Given the description of an element on the screen output the (x, y) to click on. 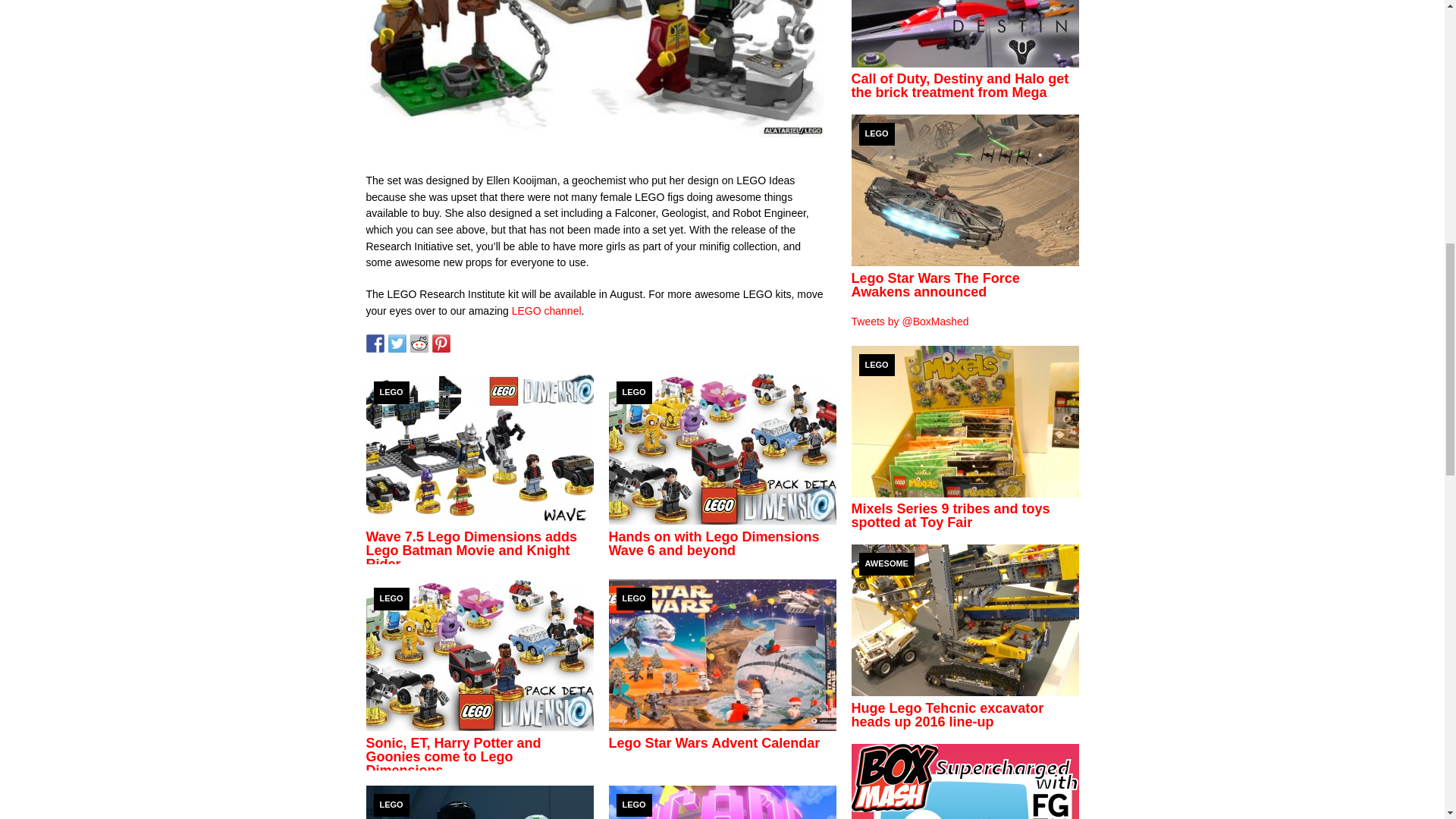
LEGO (390, 599)
Hands on with Lego Dimensions Wave 6 and beyond (713, 543)
Sonic, ET, Harry Potter and Goonies come to Lego Dimensions (452, 756)
LEGO (390, 392)
LEGO (632, 392)
LEGO channel (546, 310)
